Given the description of an element on the screen output the (x, y) to click on. 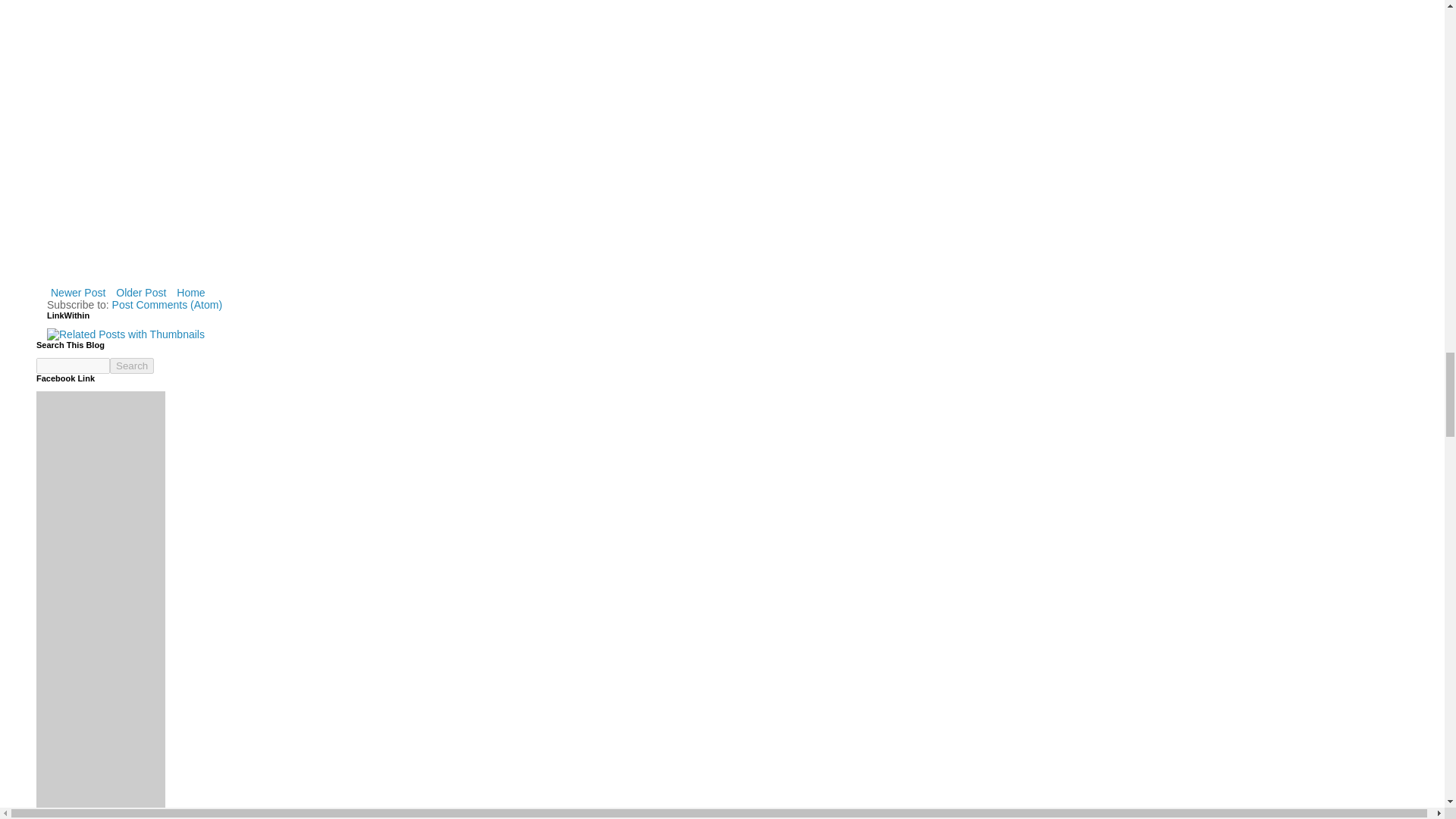
search (132, 365)
search (73, 365)
Search (132, 365)
Newer Post (77, 292)
Older Post (141, 292)
Search (132, 365)
